Given the description of an element on the screen output the (x, y) to click on. 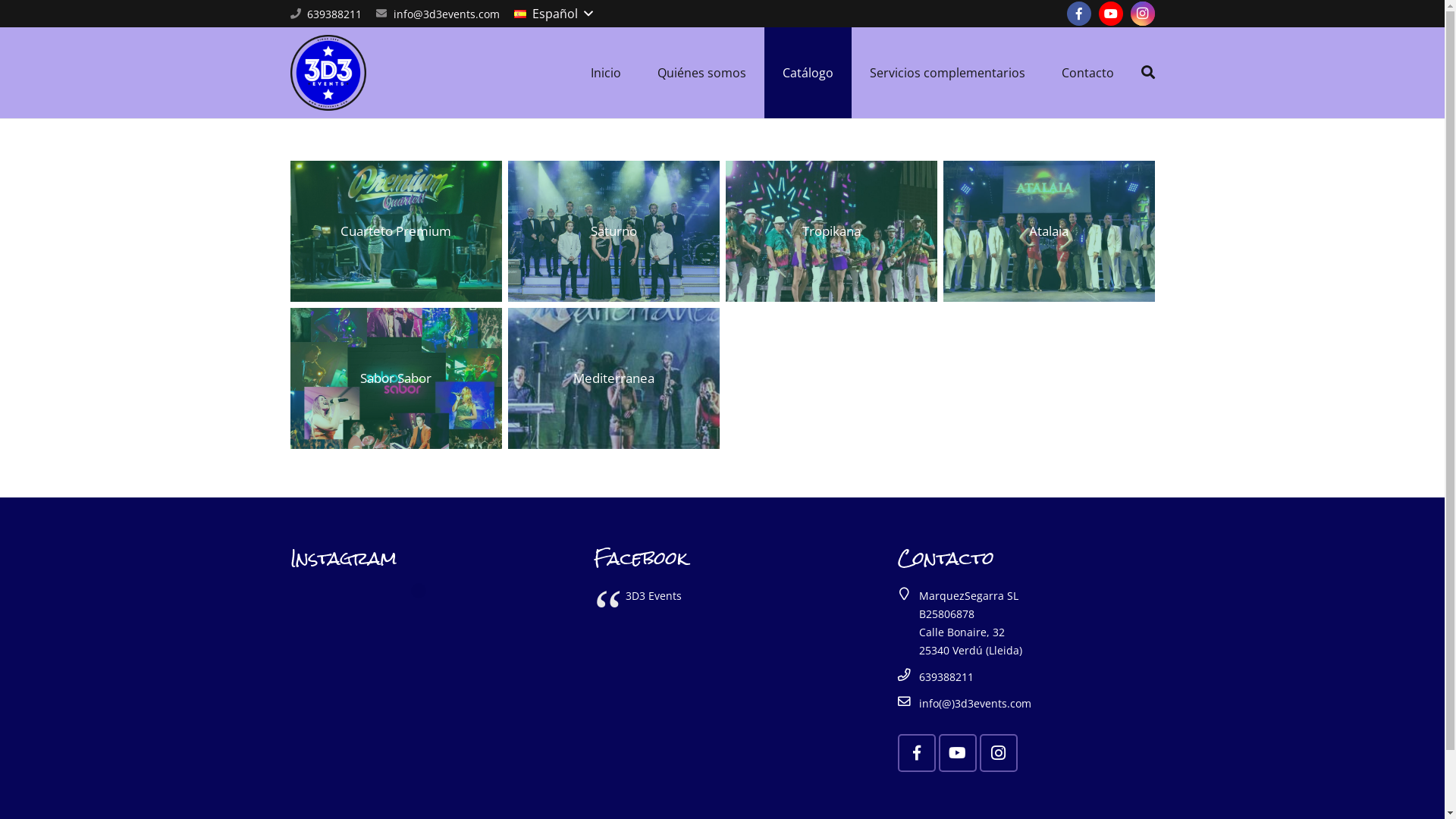
3D3 Events Element type: text (653, 595)
info@3d3events.com Element type: text (446, 13)
Inicio Element type: text (605, 72)
YouTube Element type: hover (1110, 13)
Contacto Element type: text (1087, 72)
Facebook Element type: hover (1078, 13)
info(@)3d3events.com Element type: text (975, 703)
Buscar Element type: hover (1147, 72)
Instagram Element type: hover (1141, 13)
Servicios complementarios Element type: text (947, 72)
